Given the description of an element on the screen output the (x, y) to click on. 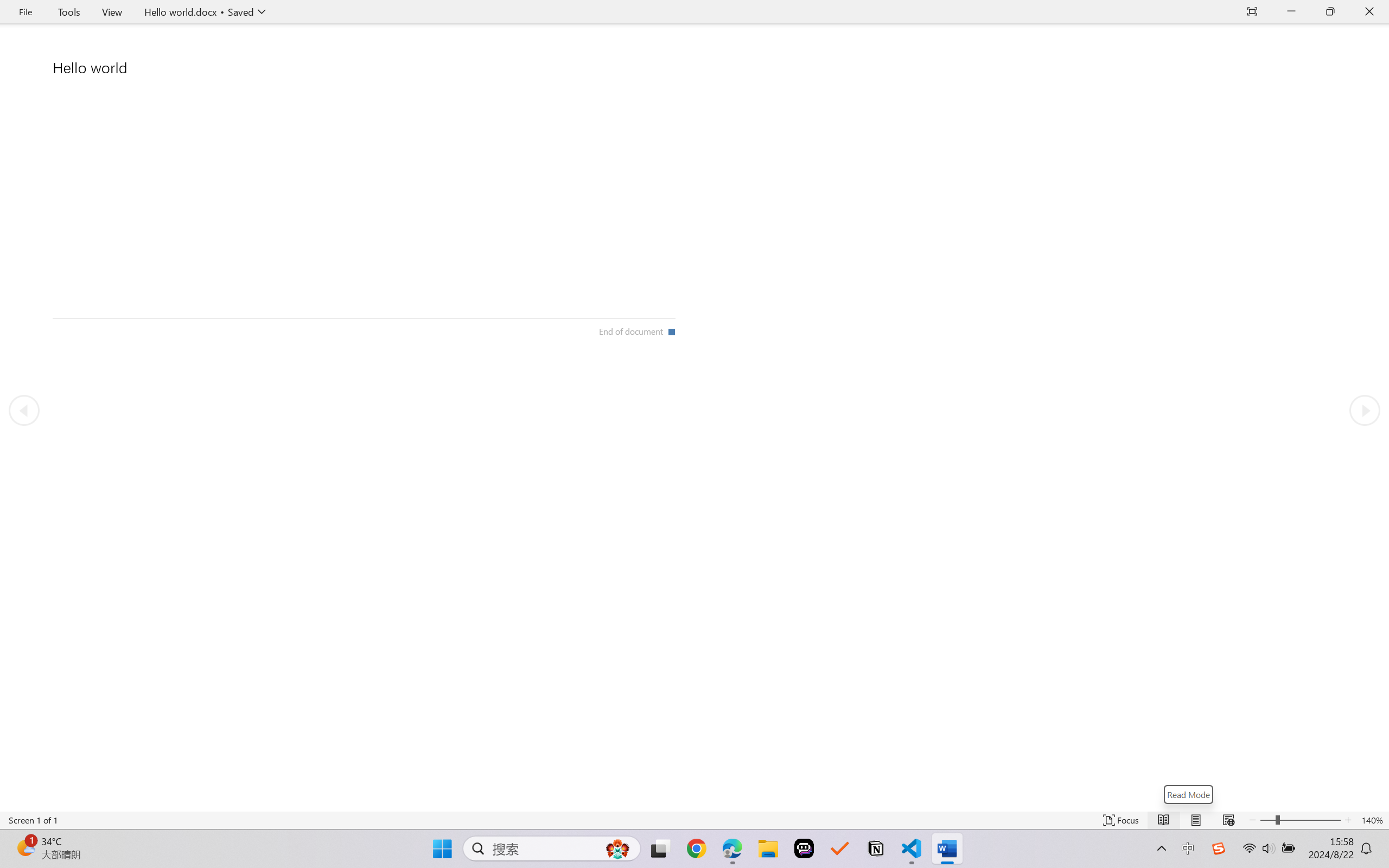
Class: NetUIScrollBar (694, 803)
Increase Text Size (1348, 819)
Read Mode (1163, 819)
Page Number Screen 1 of 1  (32, 819)
Zoom In (1310, 819)
AutomationID: DynamicSearchBoxGleamImage (617, 848)
Focus  (1121, 819)
Auto-hide Reading Toolbar (1252, 11)
File Tab (24, 11)
AutomationID: BadgeAnchorLargeTicker (24, 847)
